Given the description of an element on the screen output the (x, y) to click on. 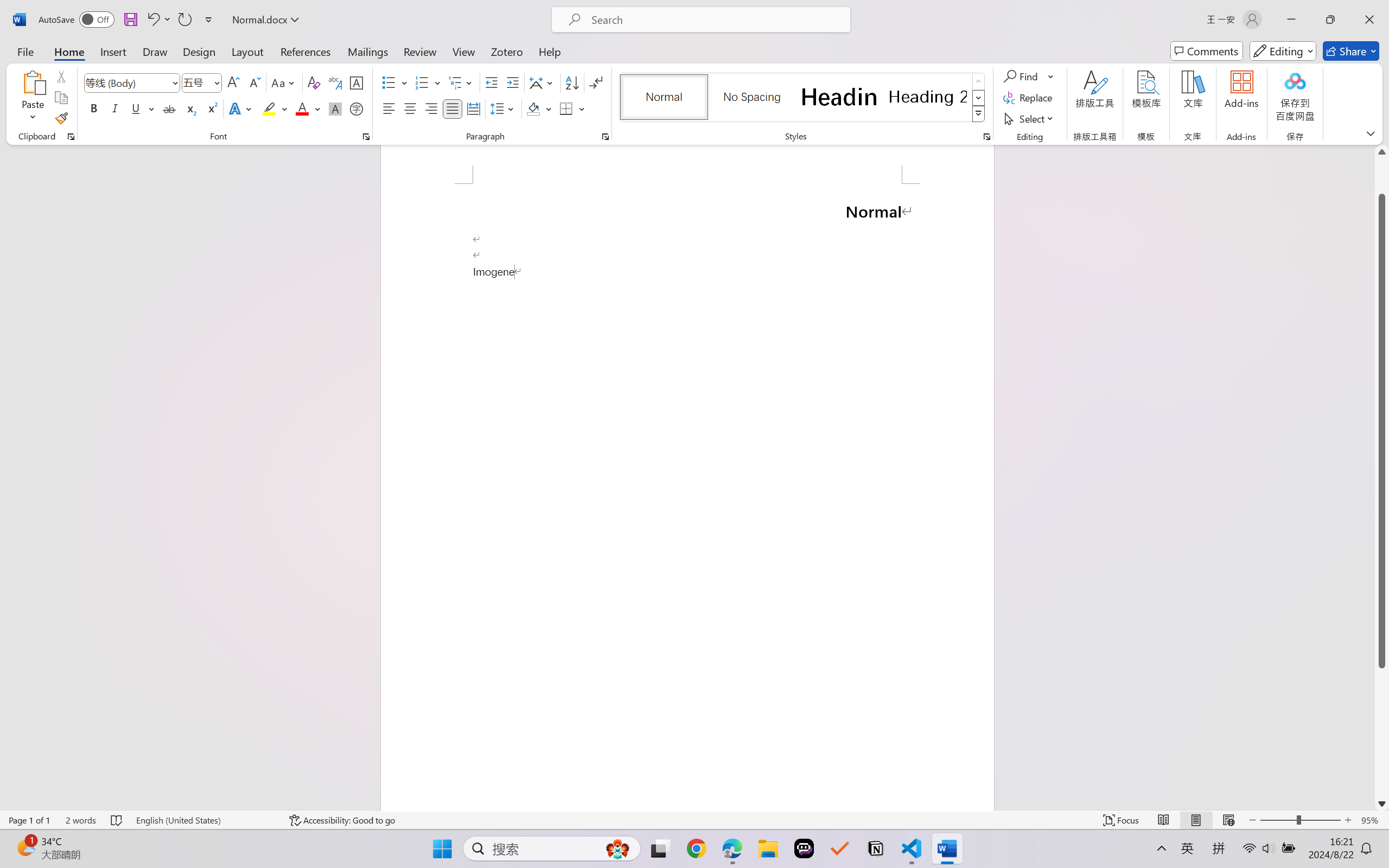
Shading RGB(0, 0, 0) (533, 108)
Distributed (473, 108)
